Given the description of an element on the screen output the (x, y) to click on. 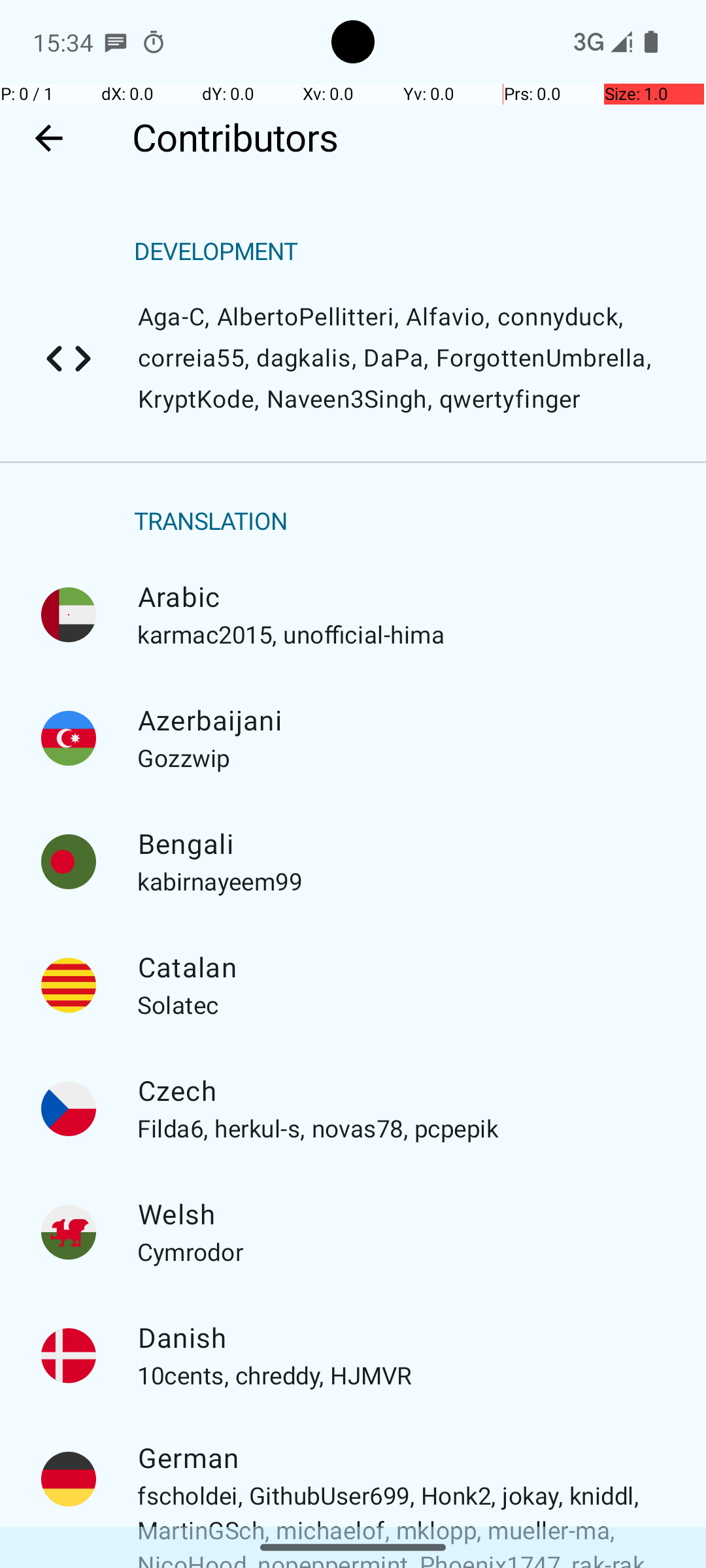
DEVELOPMENT Element type: android.widget.TextView (216, 251)
TRANSLATION Element type: android.widget.TextView (211, 521)
Aga-C, AlbertoPellitteri, Alfavio, connyduck, correia55, dagkalis, DaPa, ForgottenUmbrella, KryptKode, Naveen3Singh, qwertyfinger Element type: android.view.View (68, 358)
karmac2015, unofficial-hima Element type: android.view.View (68, 614)
Arabic Element type: android.widget.TextView (400, 597)
Gozzwip Element type: android.view.View (68, 737)
Azerbaijani Element type: android.widget.TextView (400, 720)
kabirnayeem99 Element type: android.view.View (68, 861)
Bengali Element type: android.widget.TextView (400, 844)
Solatec Element type: android.view.View (68, 984)
Catalan Element type: android.widget.TextView (400, 967)
Filda6, herkul-s, novas78, pcpepik Element type: android.view.View (68, 1108)
Czech Element type: android.widget.TextView (400, 1090)
Cymrodor Element type: android.view.View (68, 1231)
Welsh Element type: android.widget.TextView (400, 1214)
10cents, chreddy, HJMVR Element type: android.view.View (68, 1355)
Danish Element type: android.widget.TextView (400, 1337)
fscholdei, GithubUser699, Honk2, jokay, kniddl, MartinGSch, michaelof, mklopp, mueller-ma, NicoHood, nopeppermint, Phoenix1747, rak-rak, sodewe, wistein Element type: android.view.View (68, 1478)
German Element type: android.widget.TextView (400, 1458)
SMS Messenger notification: Amir dos Santos Element type: android.widget.ImageView (115, 41)
